Given the description of an element on the screen output the (x, y) to click on. 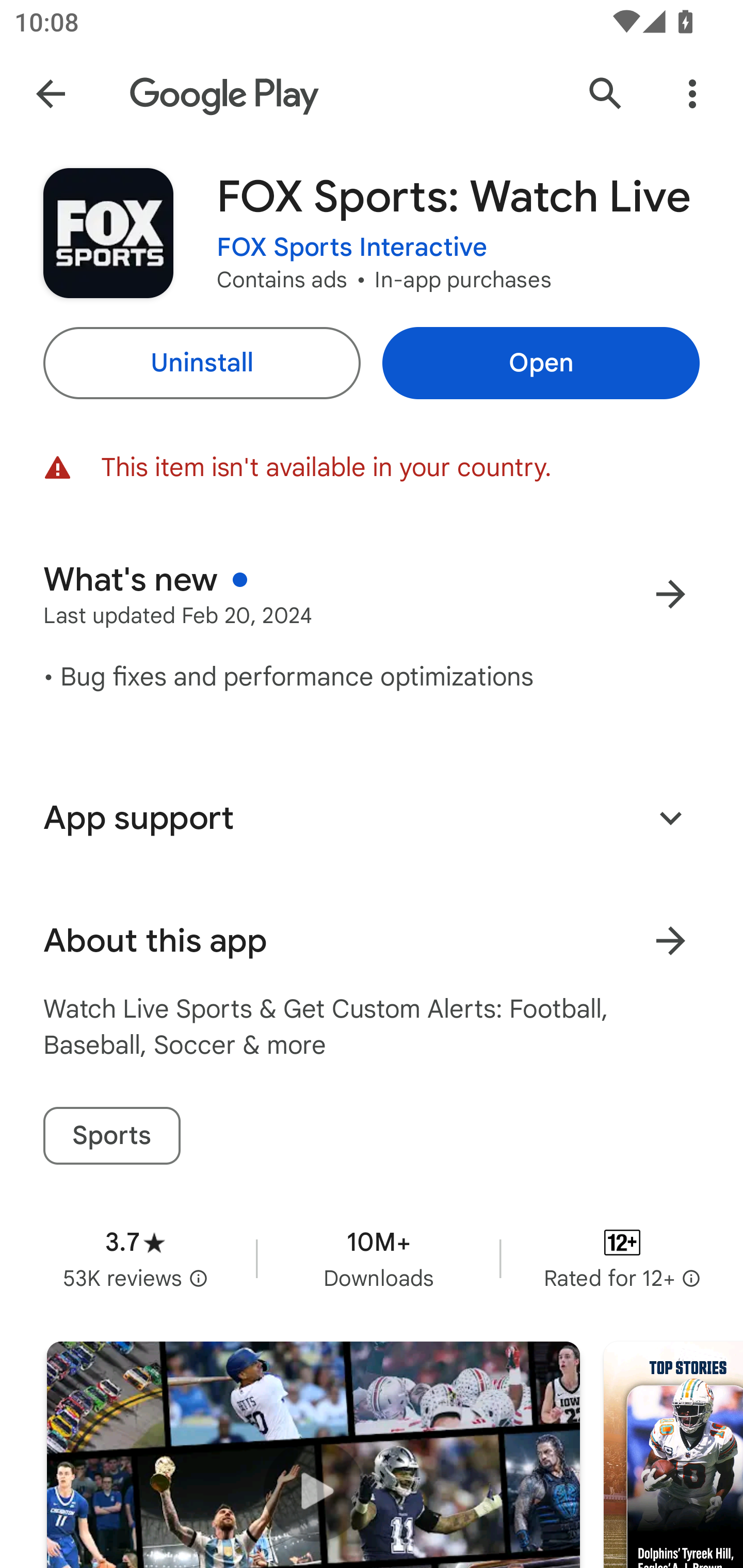
Navigate up (50, 93)
Search Google Play (605, 93)
More Options (692, 93)
FOX Sports Interactive (351, 247)
Uninstall (201, 362)
Open (540, 362)
More results for What's new (670, 594)
App support Expand (371, 817)
Expand (670, 817)
About this app Learn more About this app (371, 940)
Learn more About this app (670, 940)
Sports tag (111, 1135)
Average rating 3.7 stars in 53 thousand reviews (135, 1258)
Content rating Rated for 12+ (622, 1258)
Play trailer for "FOX Sports: Watch Live" (313, 1455)
